Given the description of an element on the screen output the (x, y) to click on. 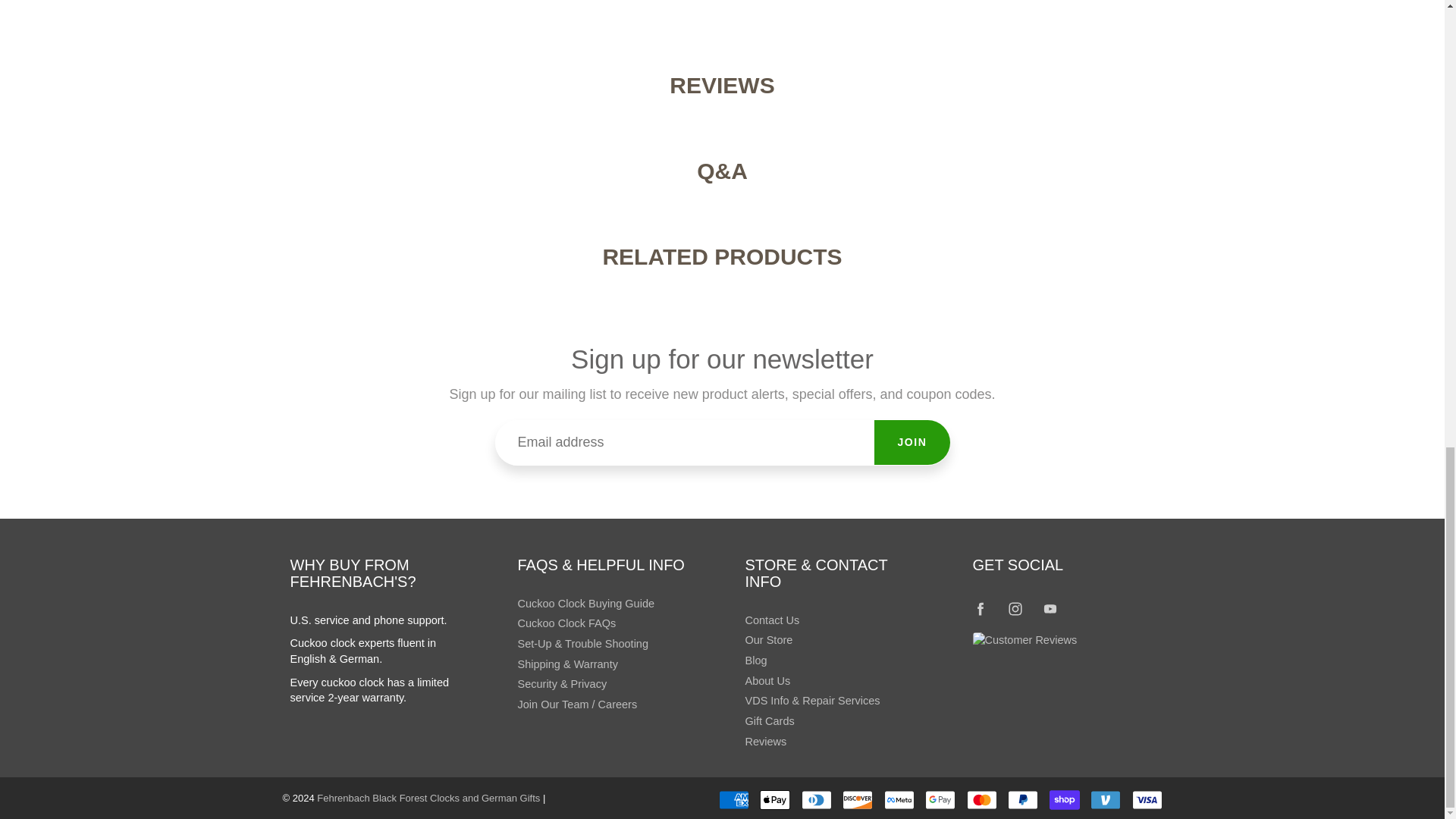
Google Pay (939, 799)
Apple Pay (775, 799)
Meta Pay (898, 799)
Mastercard (981, 799)
Venmo (1105, 799)
American Express (734, 799)
Diners Club (816, 799)
PayPal (1022, 799)
Visa (1146, 799)
Discover (857, 799)
